Given the description of an element on the screen output the (x, y) to click on. 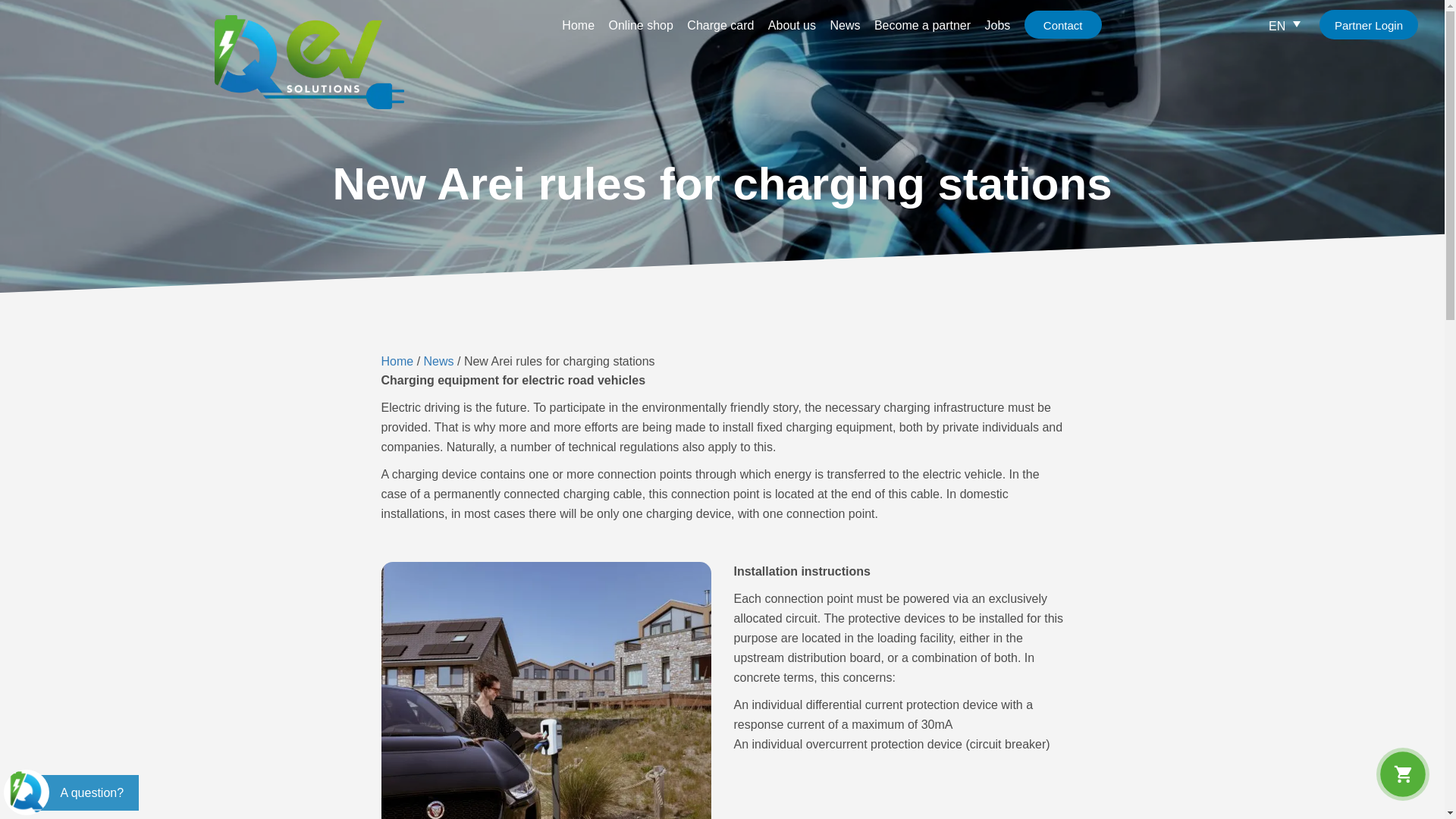
Online shop (640, 24)
Contact (1063, 24)
Home (396, 360)
Jobs (997, 24)
Home (578, 24)
Partner Login (1368, 24)
Charge card (720, 24)
News (438, 360)
EN (1283, 25)
About us (791, 24)
